Given the description of an element on the screen output the (x, y) to click on. 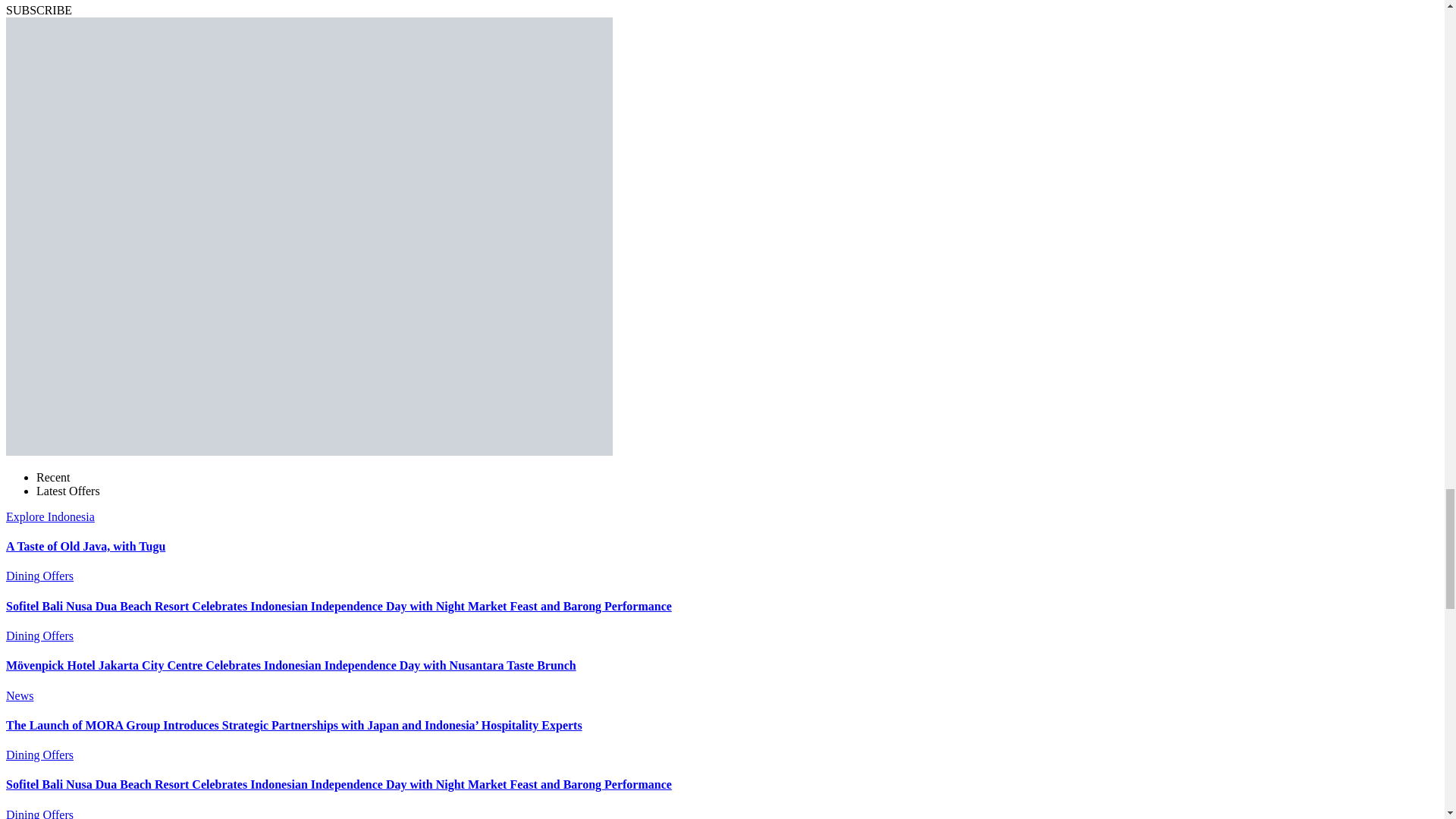
Dining Offers (39, 813)
Dining Offers (39, 754)
A Taste of Old Java, with Tugu (85, 545)
Recent (52, 477)
News (19, 695)
Dining Offers (39, 575)
SUBSCRIBE (38, 10)
Explore Indonesia (49, 516)
